Given the description of an element on the screen output the (x, y) to click on. 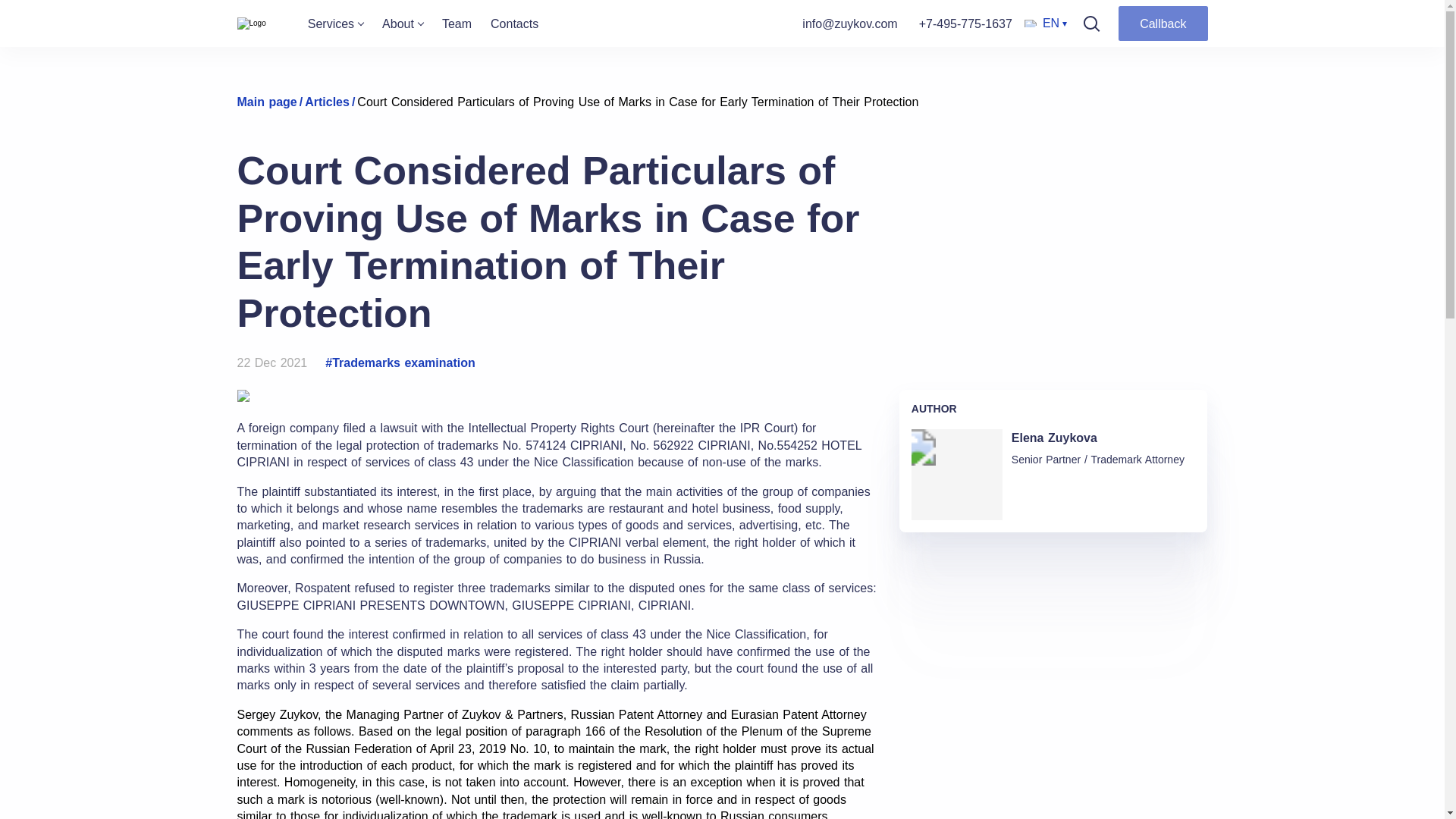
Contacts (514, 22)
About (402, 22)
EN (1046, 23)
Team (456, 22)
Callback (1162, 22)
